Given the description of an element on the screen output the (x, y) to click on. 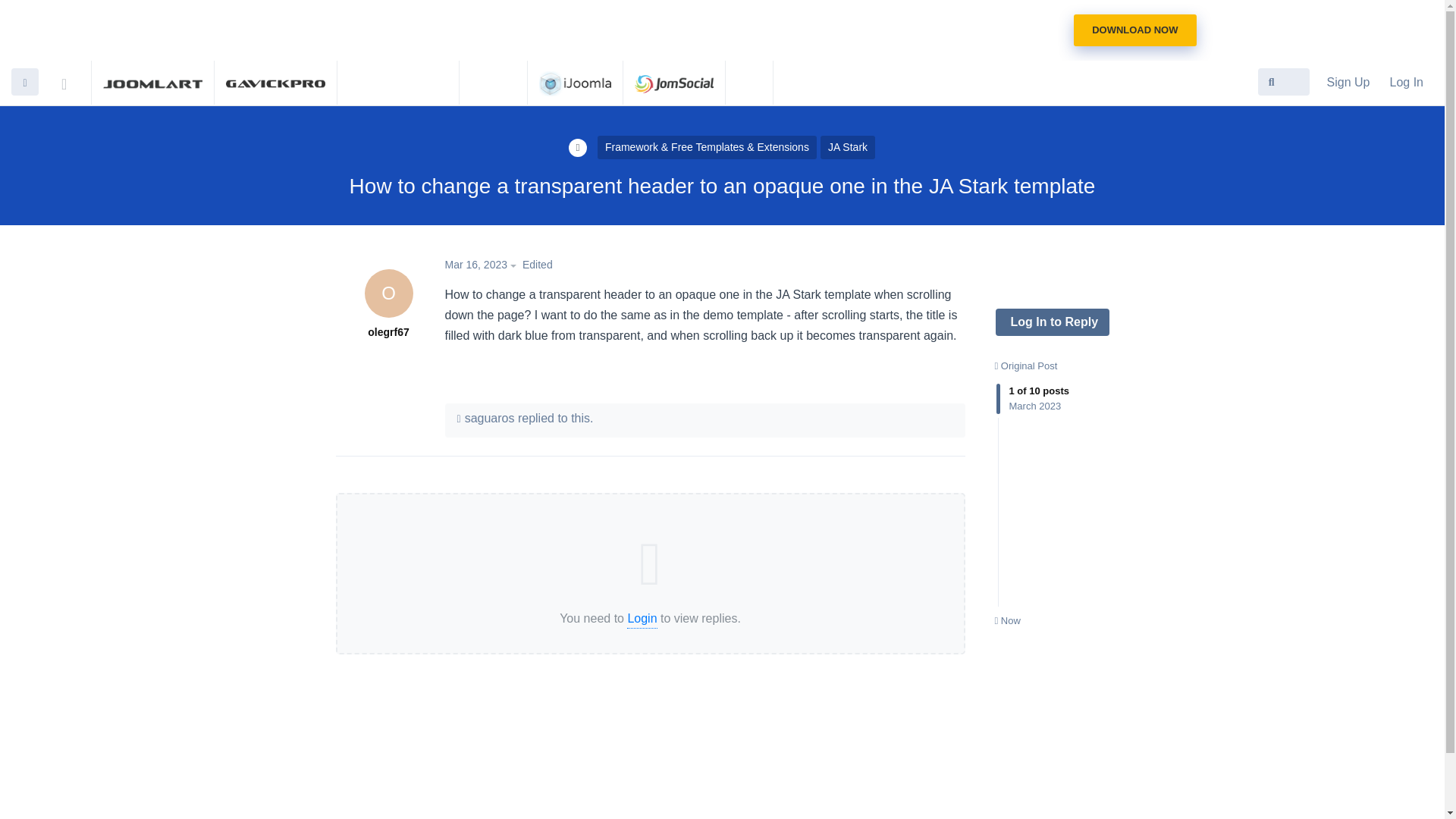
Mar 16, 2023 (483, 264)
Original Post (1026, 365)
Now (1007, 619)
saguaros (489, 418)
DTH (749, 82)
DTH Development Homepage (749, 82)
JomSocial Homepage (674, 82)
GAVICK (275, 82)
Support Central (74, 80)
Log In to Reply (1051, 321)
